Given the description of an element on the screen output the (x, y) to click on. 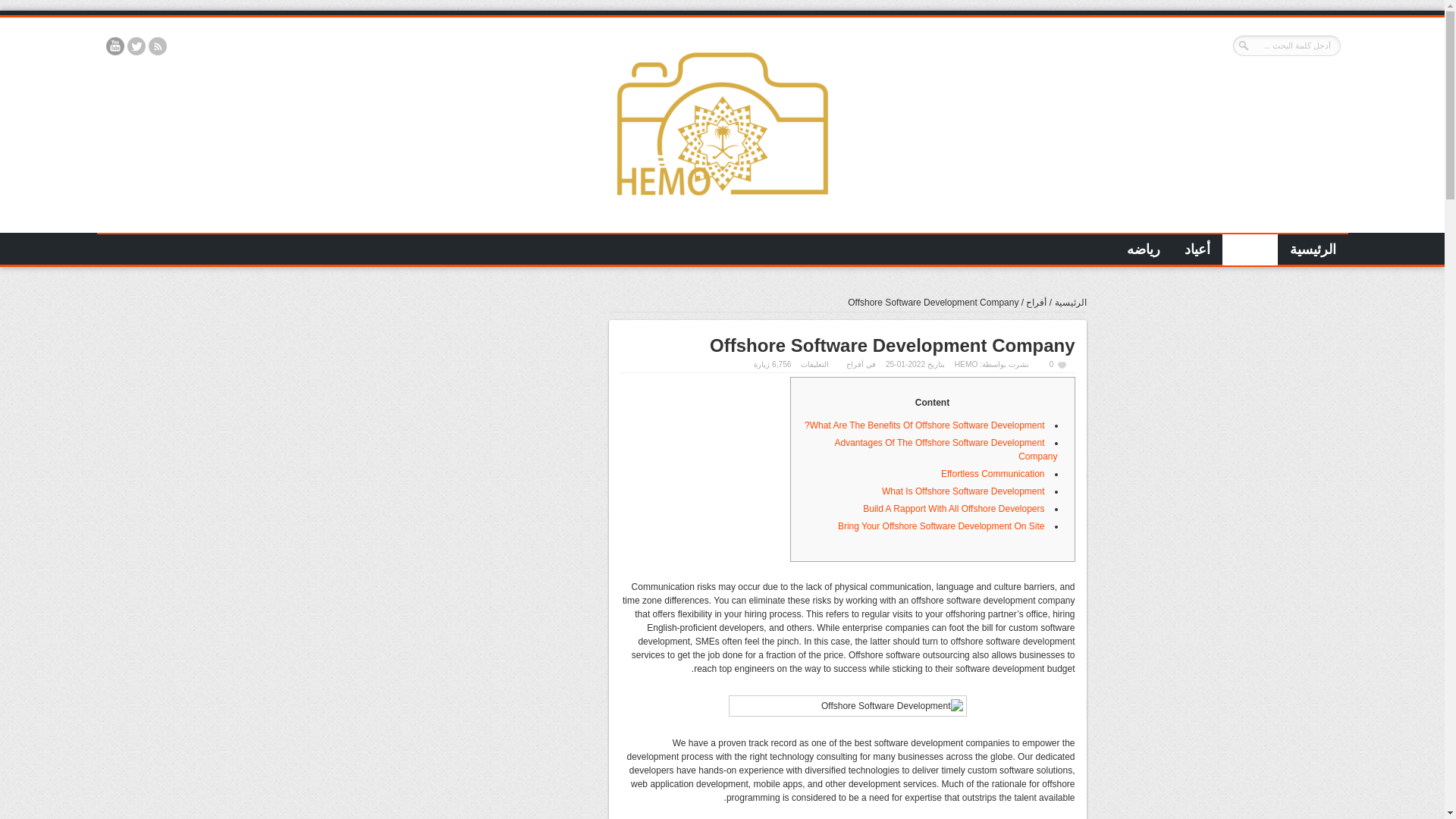
HEMO (721, 212)
What Are The Benefits Of Offshore Software Development? (924, 425)
What Is Offshore Software Development (963, 491)
Advantages Of The Offshore Software Development Company (945, 449)
HEMO (966, 364)
0 (1058, 364)
Build A Rapport With All Offshore Developers (953, 508)
Bring Your Offshore Software Development On Site (941, 525)
Effortless Communication (992, 473)
